Given the description of an element on the screen output the (x, y) to click on. 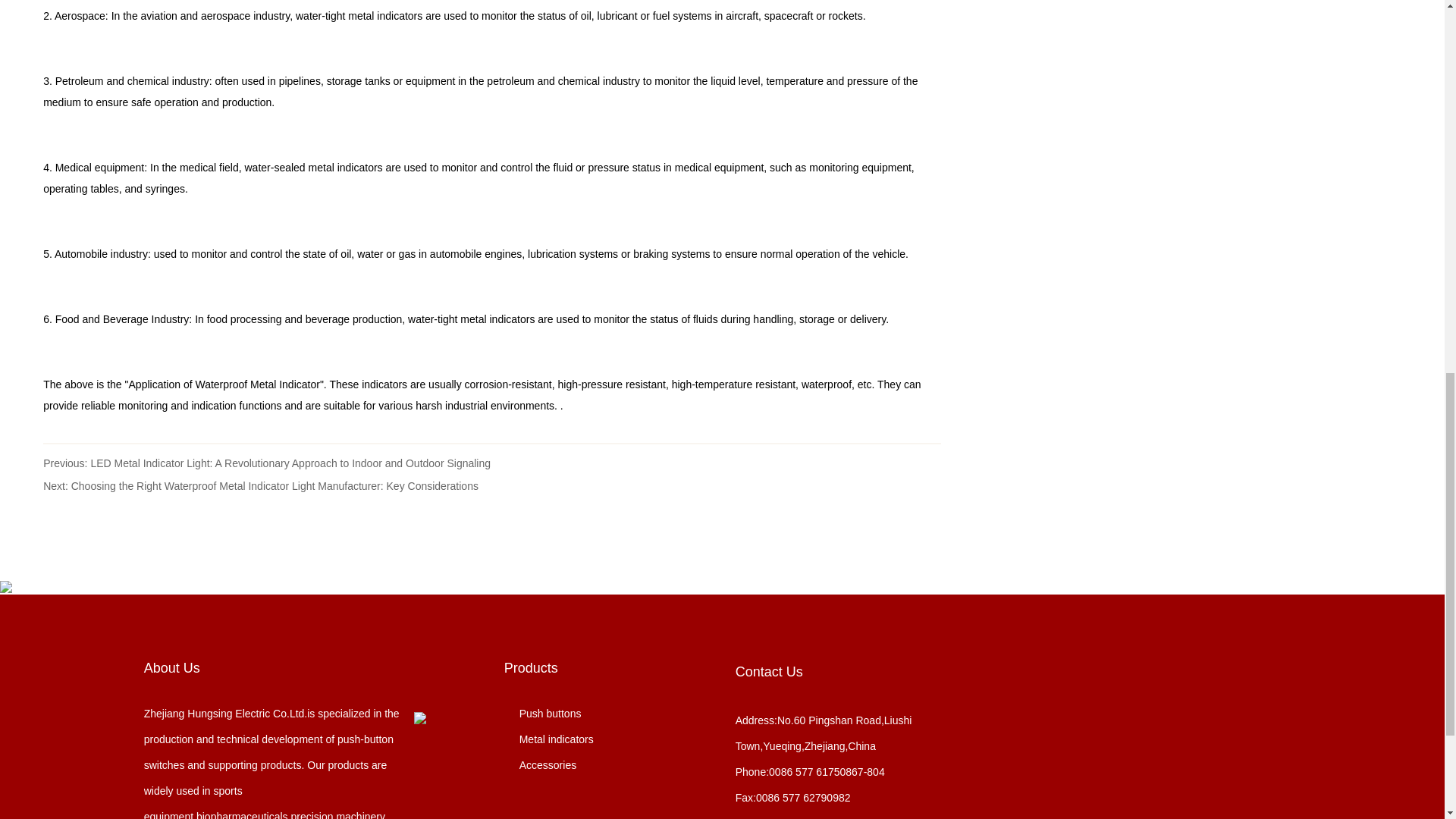
Metal indicators (548, 739)
Accessories (539, 765)
Push buttons (541, 713)
